Given the description of an element on the screen output the (x, y) to click on. 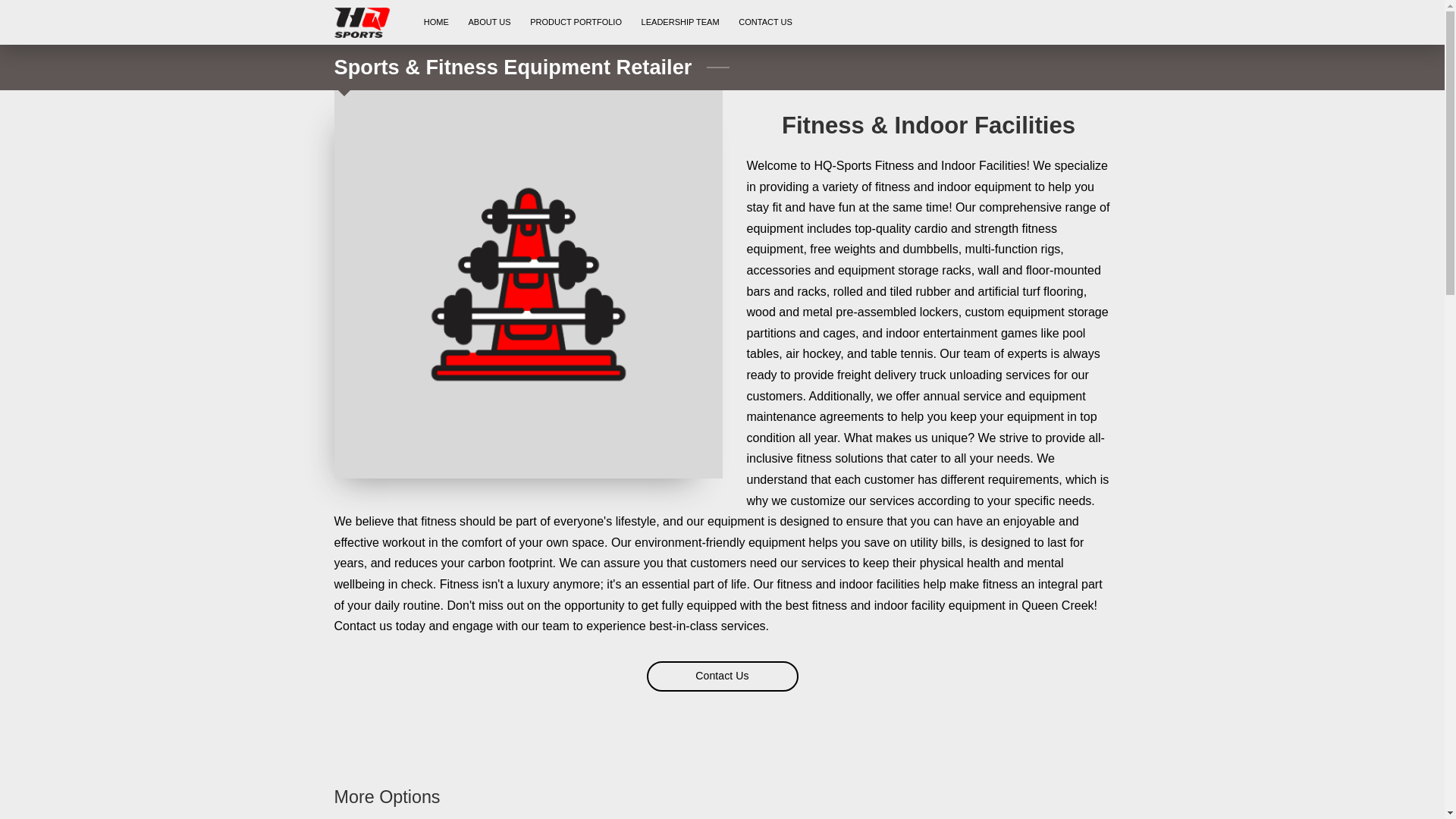
Contact Us (721, 675)
HOME (435, 22)
LEADERSHIP TEAM (680, 22)
PRODUCT PORTFOLIO (574, 22)
ABOUT US (489, 22)
CONTACT US (765, 22)
